Given the description of an element on the screen output the (x, y) to click on. 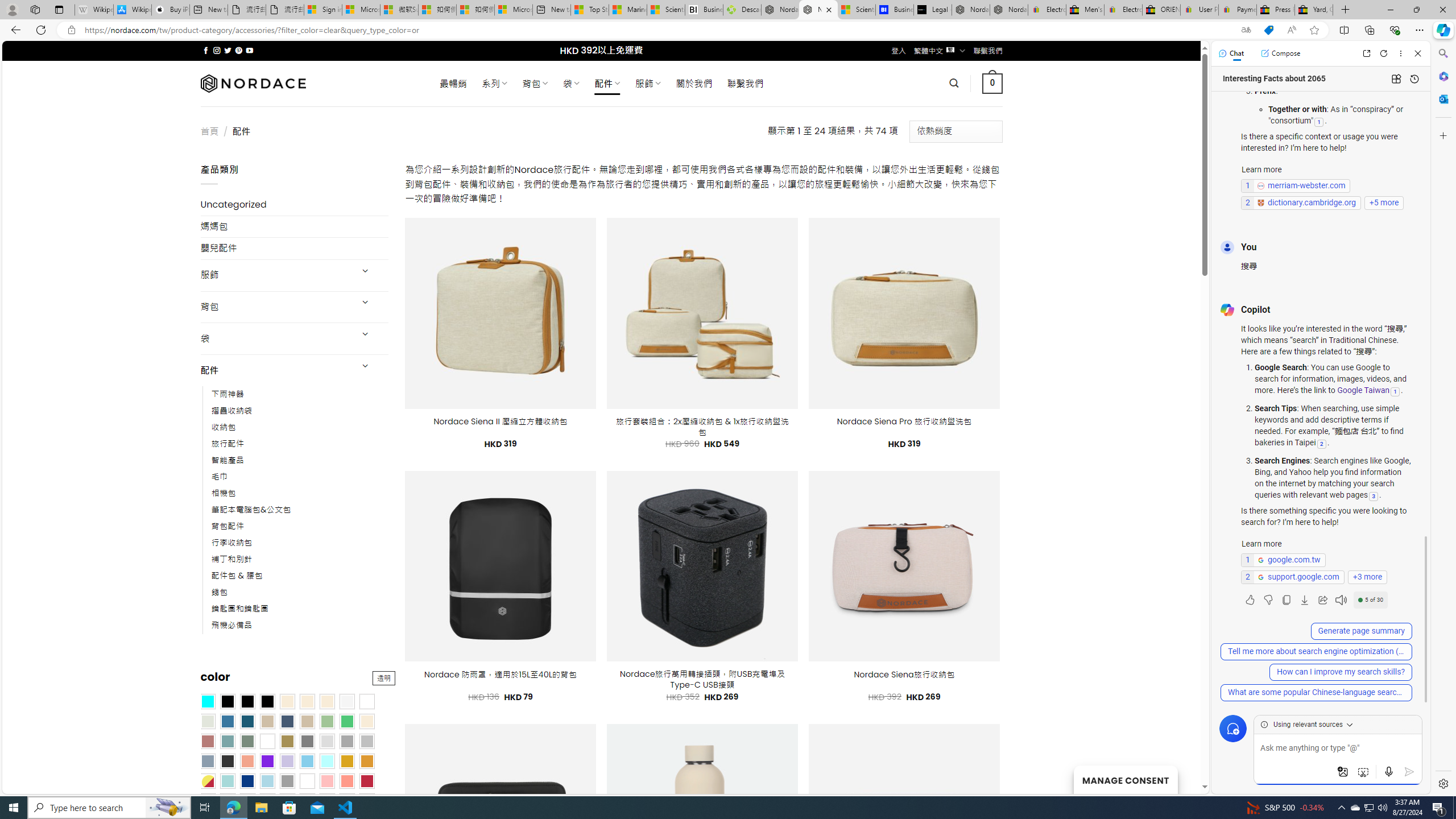
Follow on YouTube (249, 50)
